Given the description of an element on the screen output the (x, y) to click on. 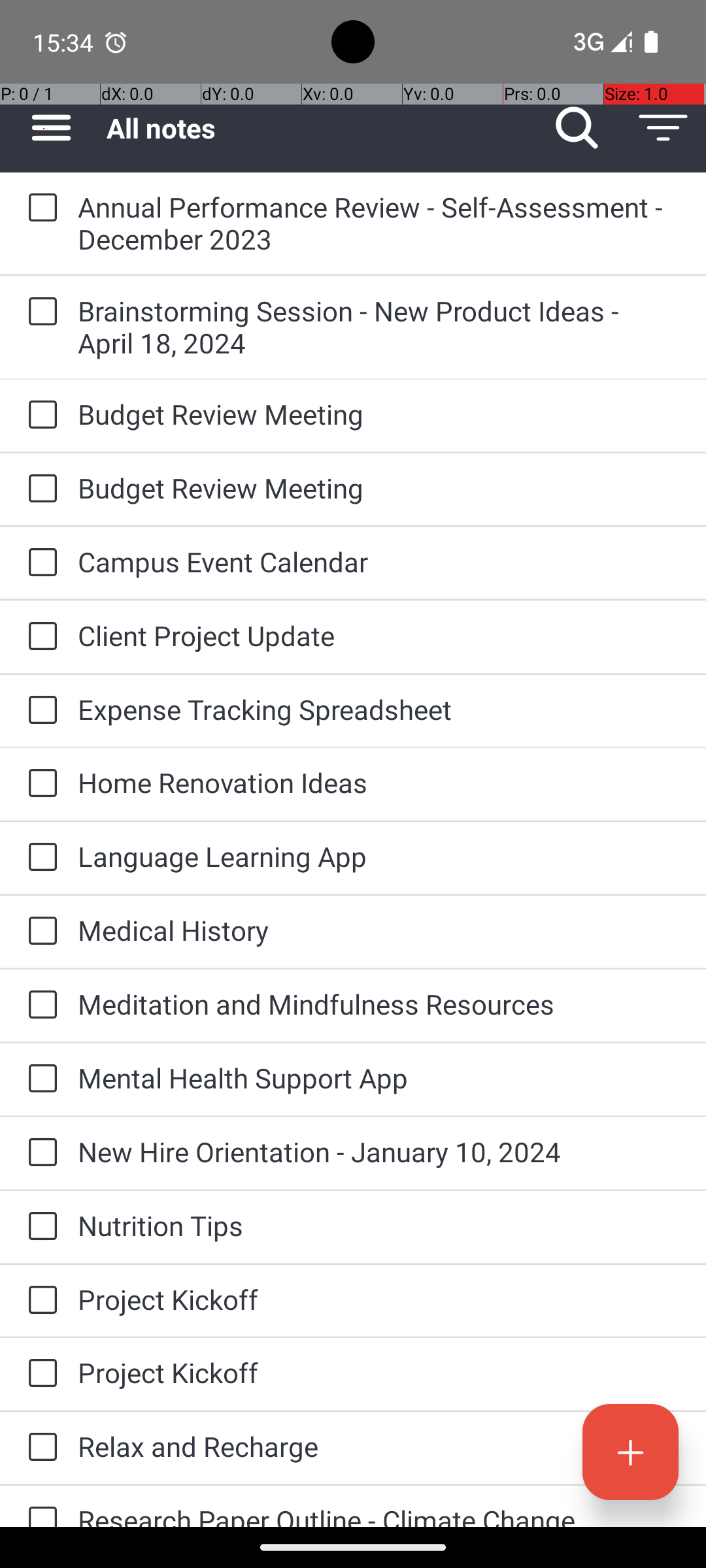
to-do: Brainstorming Session - New Product Ideas - April 18, 2024 Element type: android.widget.CheckBox (38, 312)
Brainstorming Session - New Product Ideas - April 18, 2024 Element type: android.widget.TextView (378, 326)
to-do: Campus Event Calendar Element type: android.widget.CheckBox (38, 563)
Campus Event Calendar Element type: android.widget.TextView (378, 561)
to-do: Client Project Update Element type: android.widget.CheckBox (38, 636)
Client Project Update Element type: android.widget.TextView (378, 634)
to-do: Expense Tracking Spreadsheet Element type: android.widget.CheckBox (38, 710)
Expense Tracking Spreadsheet Element type: android.widget.TextView (378, 708)
to-do: Home Renovation Ideas Element type: android.widget.CheckBox (38, 783)
Home Renovation Ideas Element type: android.widget.TextView (378, 781)
to-do: Language Learning App Element type: android.widget.CheckBox (38, 857)
Language Learning App Element type: android.widget.TextView (378, 855)
to-do: Medical History Element type: android.widget.CheckBox (38, 931)
Medical History Element type: android.widget.TextView (378, 929)
to-do: Meditation and Mindfulness Resources Element type: android.widget.CheckBox (38, 1005)
to-do: Mental Health Support App Element type: android.widget.CheckBox (38, 1079)
Mental Health Support App Element type: android.widget.TextView (378, 1077)
to-do: Relax and Recharge Element type: android.widget.CheckBox (38, 1447)
Relax and Recharge Element type: android.widget.TextView (378, 1445)
